Given the description of an element on the screen output the (x, y) to click on. 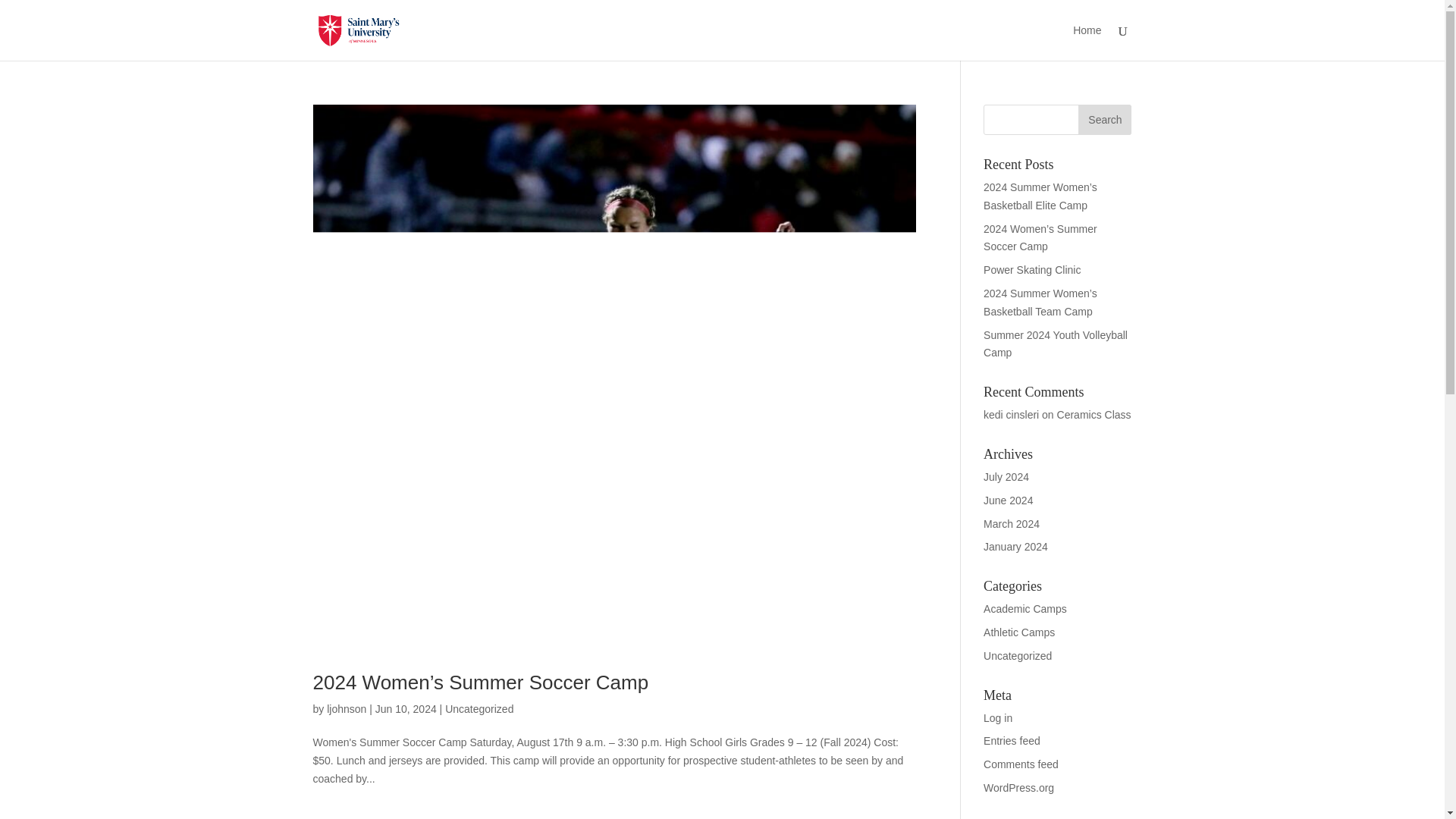
Power Skating Clinic (1032, 269)
Academic Camps (1025, 608)
Athletic Camps (1019, 632)
Search (1104, 119)
Uncategorized (1017, 655)
kedi cinsleri (1011, 414)
January 2024 (1016, 546)
July 2024 (1006, 476)
Log in (997, 717)
Entries feed (1012, 740)
